Given the description of an element on the screen output the (x, y) to click on. 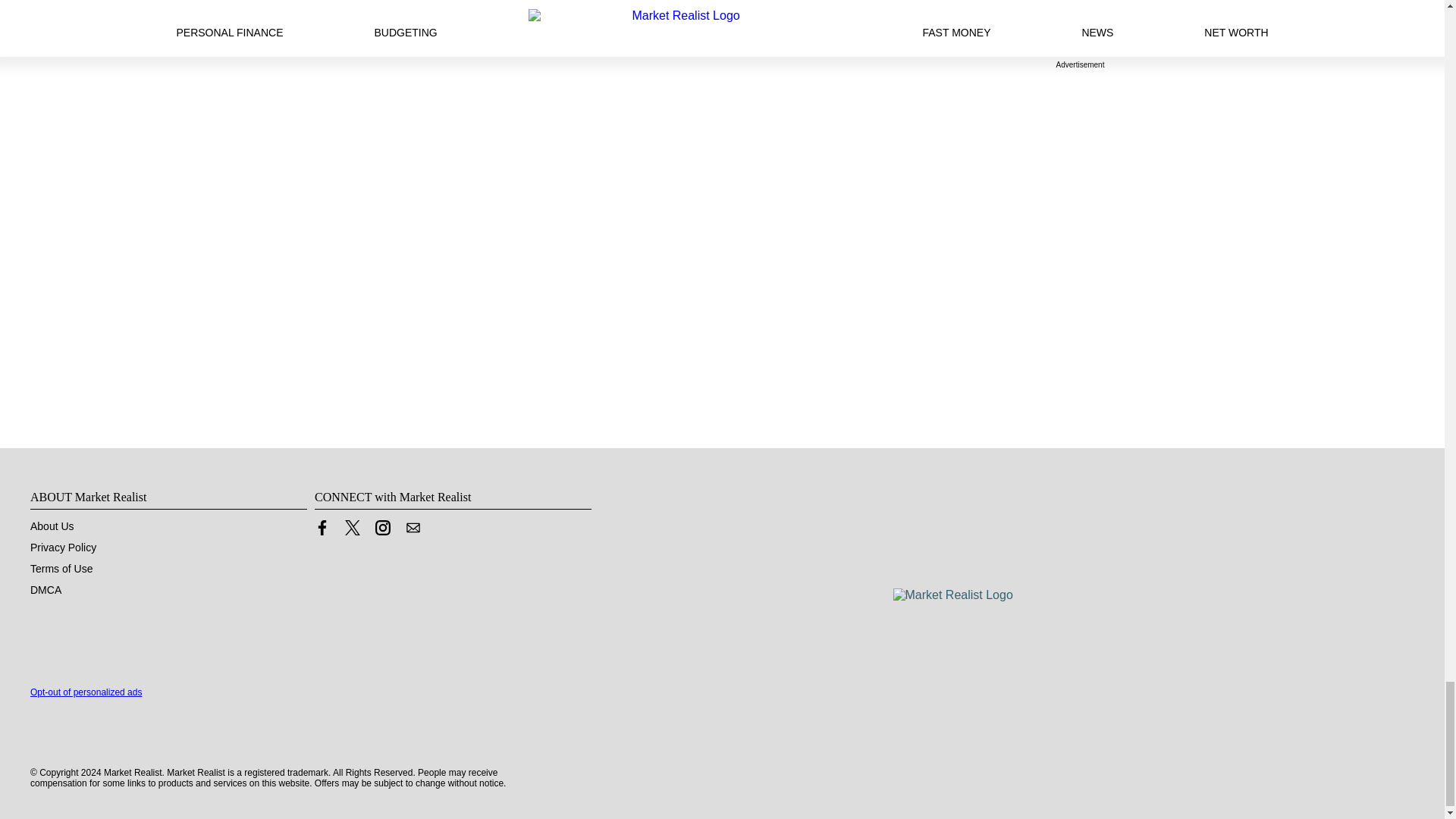
Privacy Policy (63, 547)
Link to Instagram (382, 531)
Terms of Use (61, 568)
About Us (52, 526)
Link to Instagram (382, 527)
Link to X (352, 531)
Contact us by Email (413, 527)
Link to X (352, 527)
Link to Facebook (322, 531)
DMCA (45, 589)
